Given the description of an element on the screen output the (x, y) to click on. 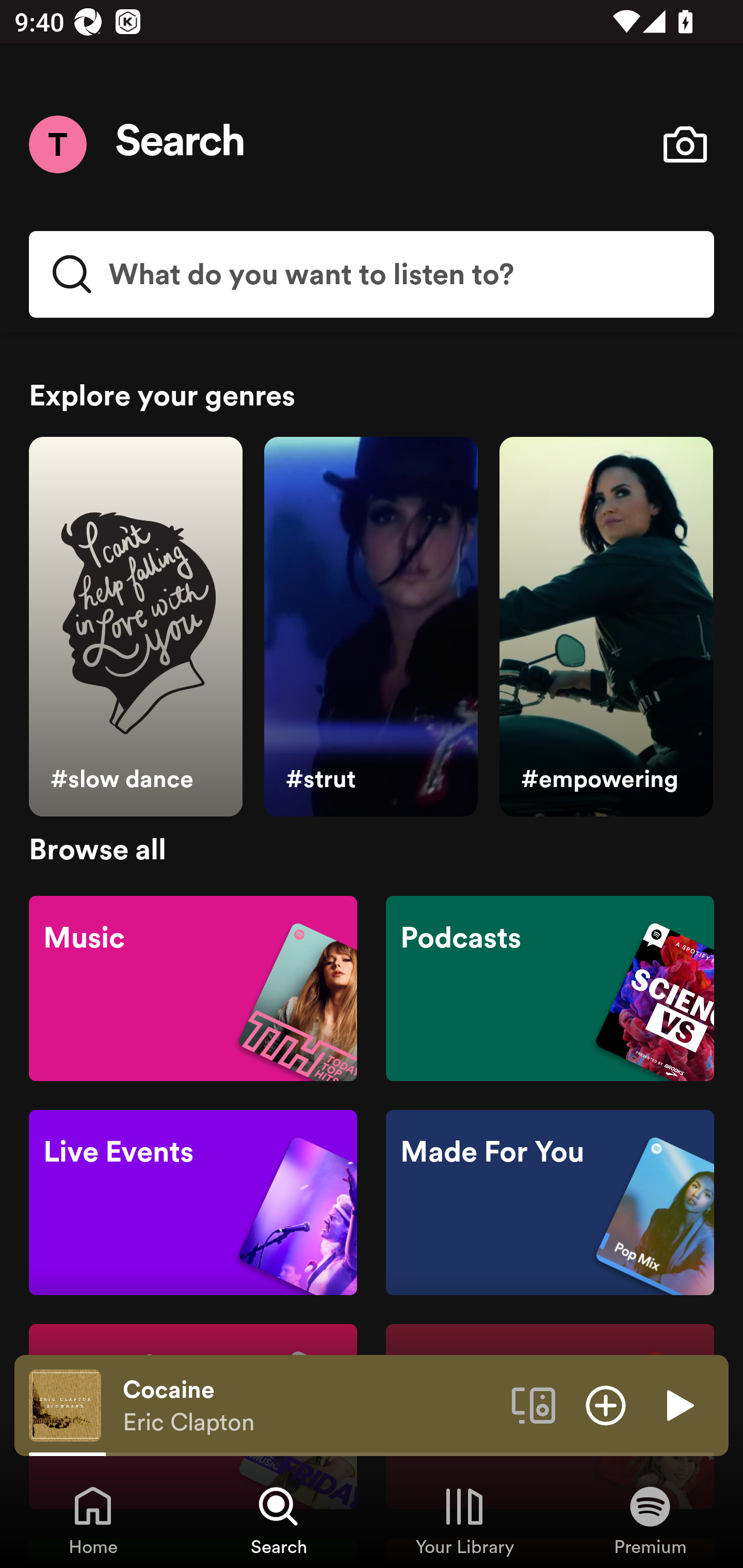
Menu (57, 144)
Open camera (685, 145)
Search (180, 144)
#slow dance (135, 626)
#strut (370, 626)
#empowering (606, 626)
Music (192, 987)
Podcasts (549, 987)
Live Events (192, 1202)
Made For You (549, 1202)
Cocaine Eric Clapton (309, 1405)
The cover art of the currently playing track (64, 1404)
Connect to a device. Opens the devices menu (533, 1404)
Add item (605, 1404)
Play (677, 1404)
Home, Tab 1 of 4 Home Home (92, 1519)
Search, Tab 2 of 4 Search Search (278, 1519)
Your Library, Tab 3 of 4 Your Library Your Library (464, 1519)
Premium, Tab 4 of 4 Premium Premium (650, 1519)
